Given the description of an element on the screen output the (x, y) to click on. 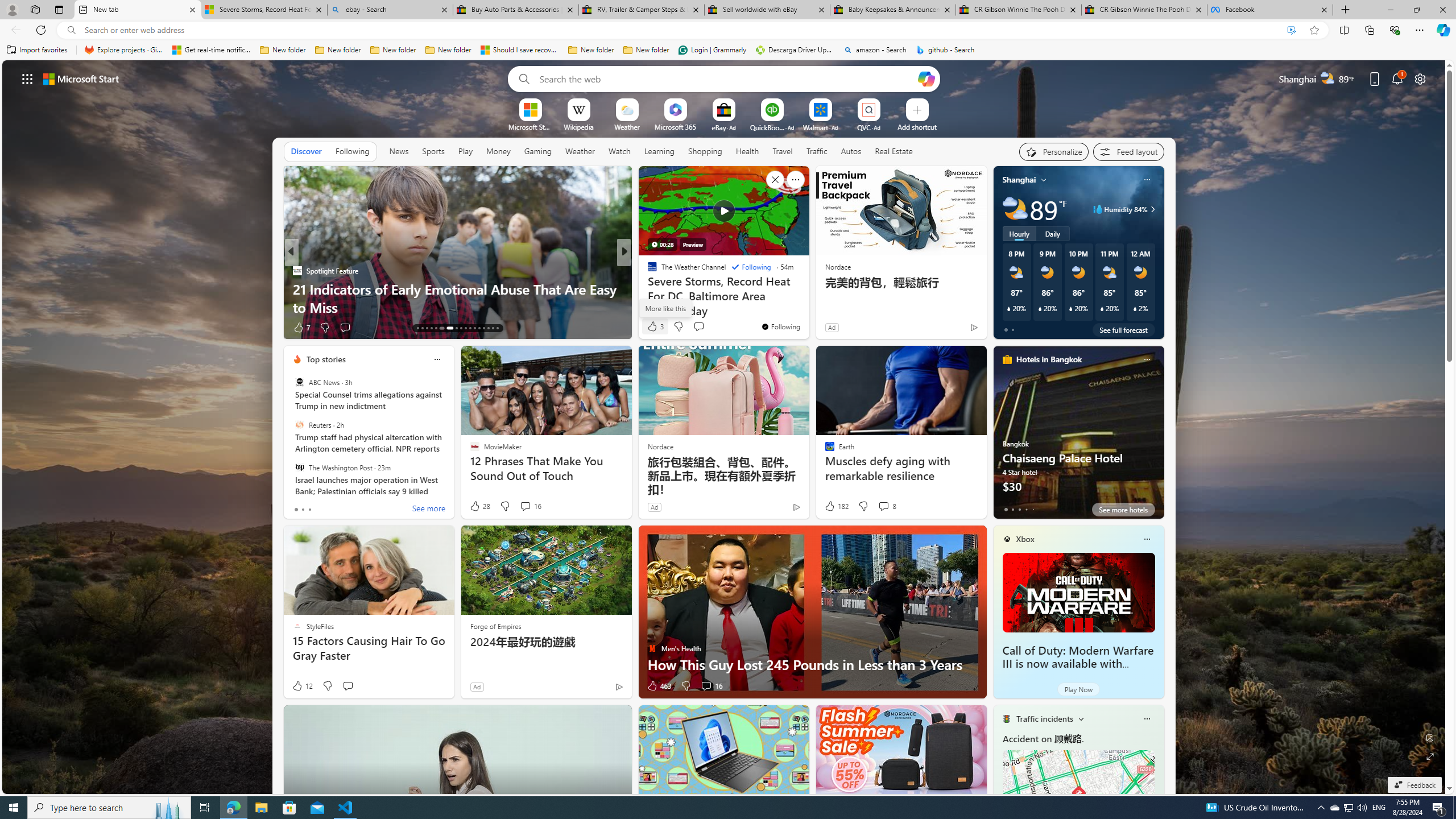
The Washington Post (299, 466)
ETNT Mind+Body (647, 270)
View comments 1 Comment (703, 327)
Hide this story (774, 179)
12 Like (301, 685)
View comments 167 Comment (709, 327)
Shopping (705, 151)
USA TODAY (647, 270)
